Given the description of an element on the screen output the (x, y) to click on. 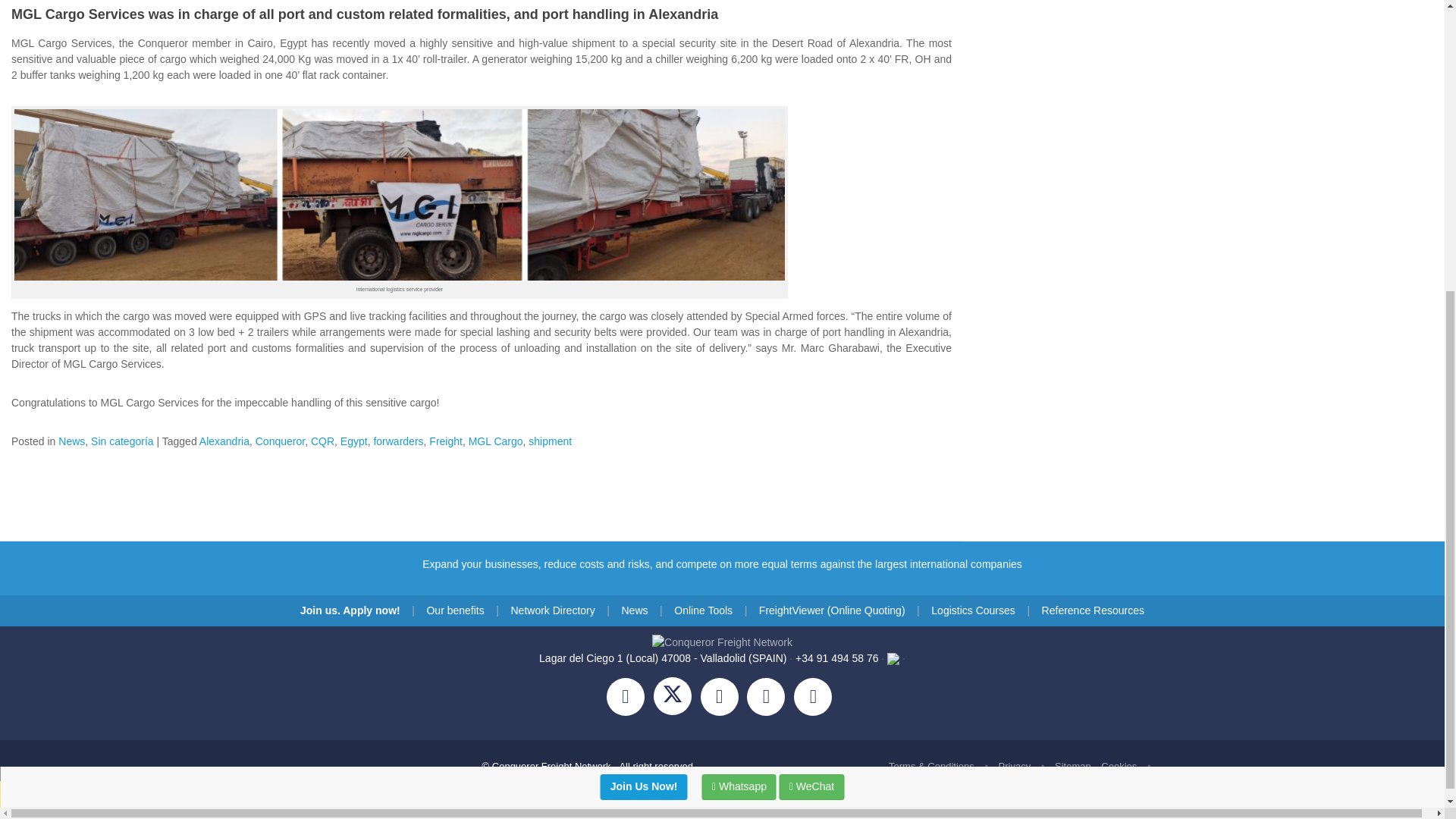
Linkedin (769, 698)
MGL Cargo (495, 440)
Facebook (630, 698)
Freight (446, 440)
Twitter (676, 698)
Youtube (815, 698)
Alexandria (223, 440)
Instagram (724, 698)
Conqueror (280, 440)
Egypt (354, 440)
News (71, 440)
forwarders (397, 440)
shipment (550, 440)
CQR (322, 440)
